Given the description of an element on the screen output the (x, y) to click on. 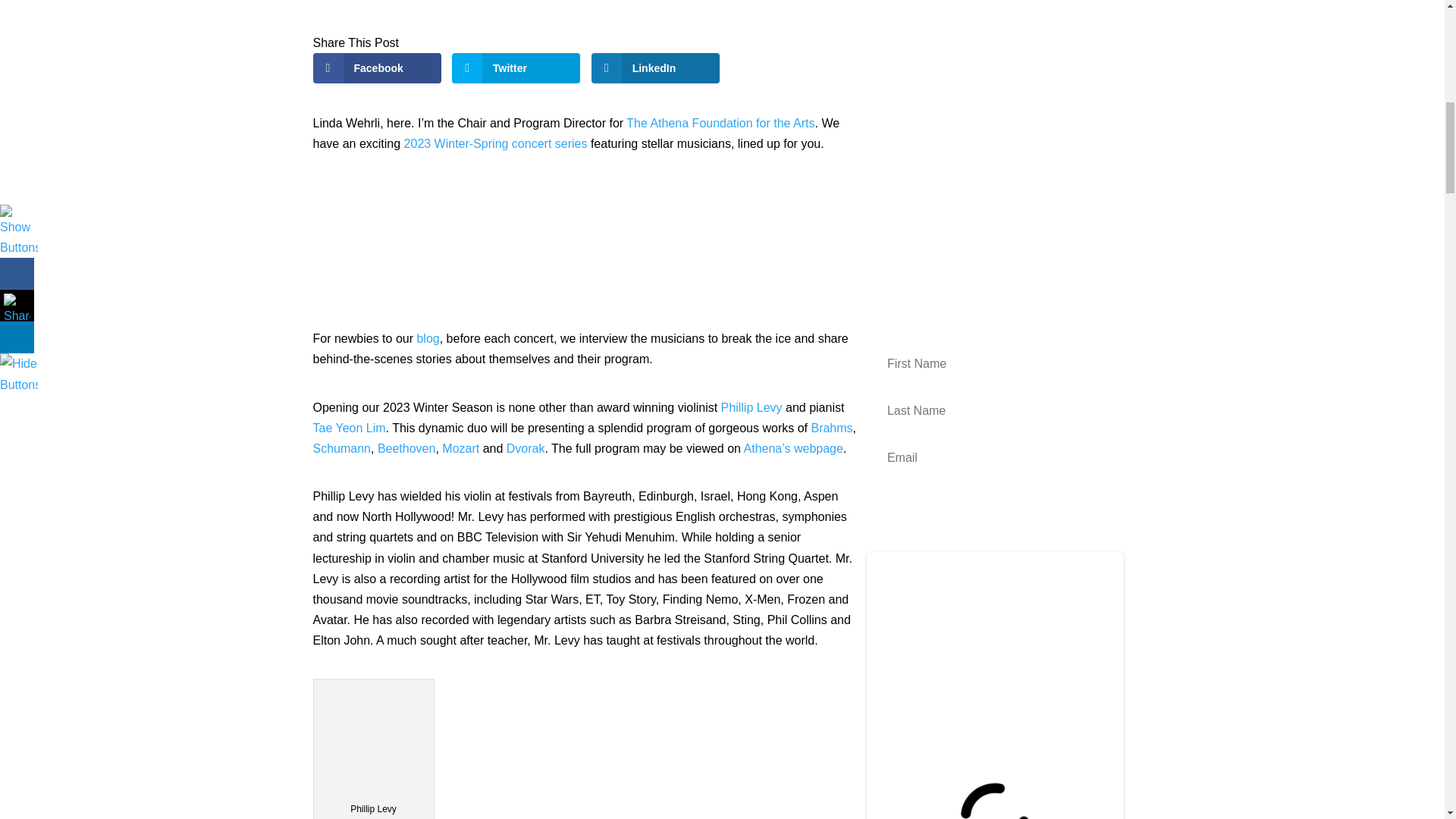
Follow on Facebook (870, 265)
Follow on X (930, 265)
Follow on Instagram (900, 265)
